Given the description of an element on the screen output the (x, y) to click on. 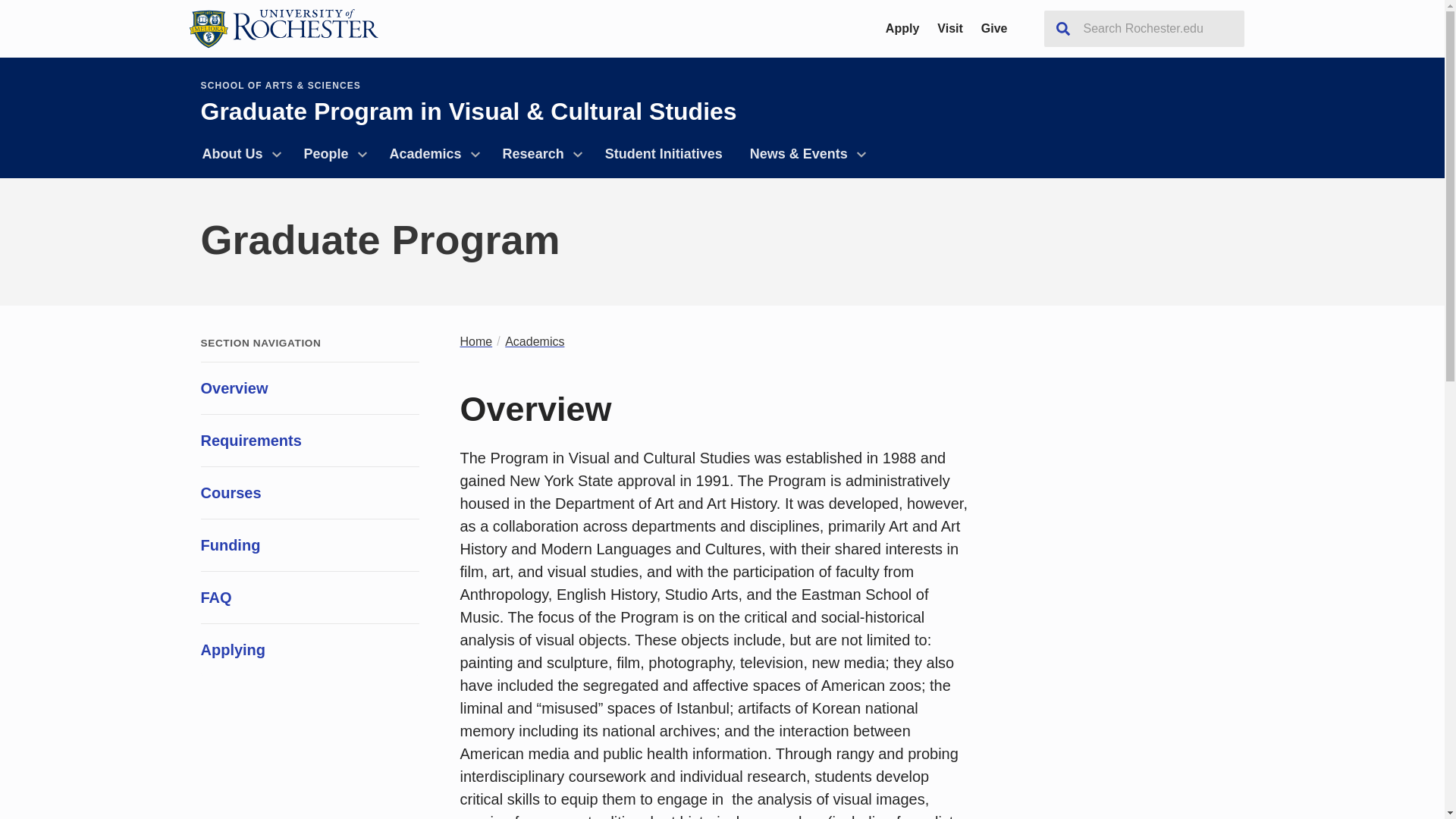
People (332, 154)
About Us (238, 154)
Search (1062, 28)
Academics (432, 154)
Student Initiatives (663, 154)
University of Rochester (282, 28)
Research (540, 154)
